Given the description of an element on the screen output the (x, y) to click on. 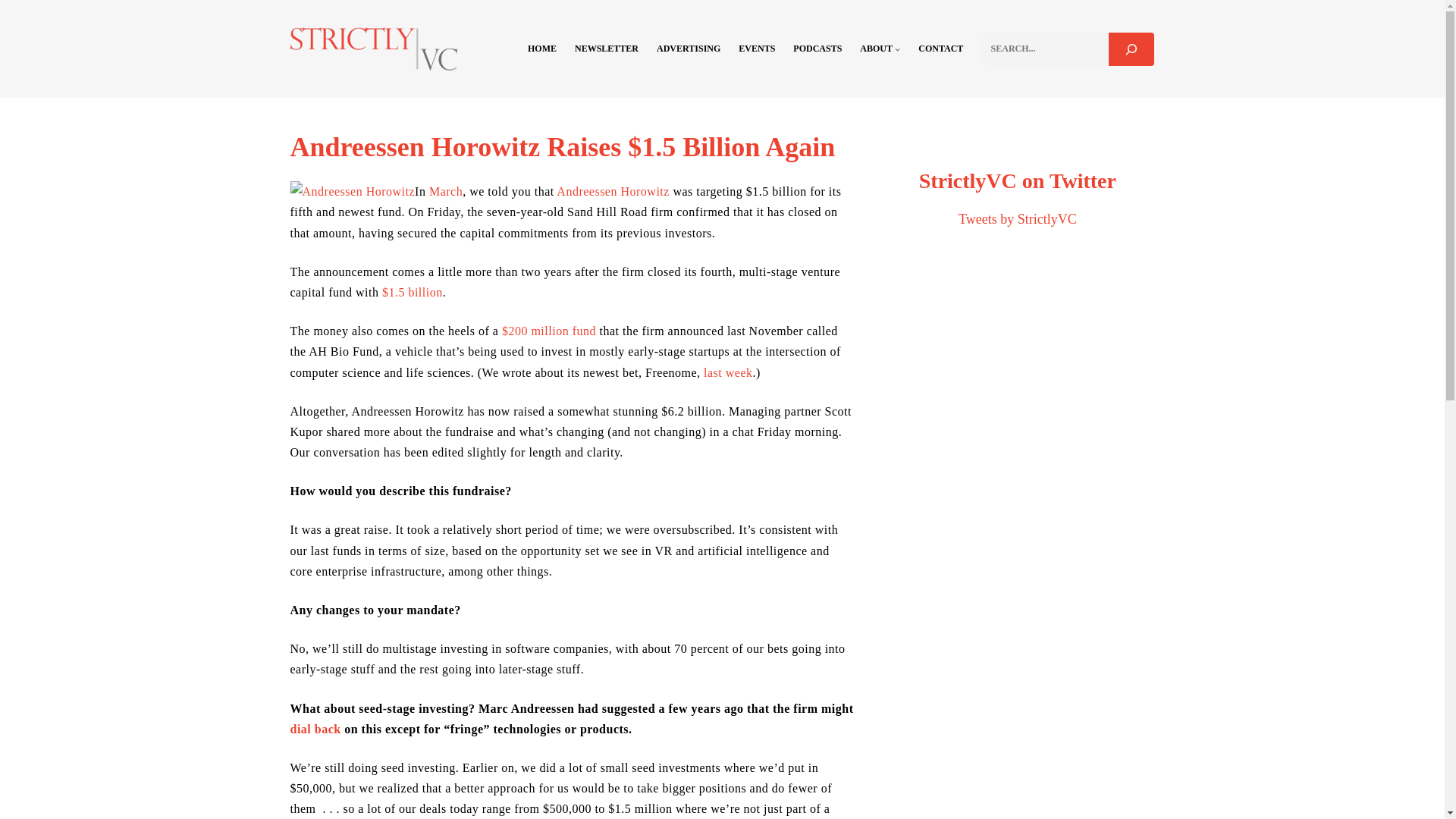
EVENTS (756, 48)
ADVERTISING (688, 48)
HOME (541, 48)
March (446, 191)
ABOUT (876, 48)
last week (727, 371)
Andreessen Horowitz (612, 191)
NEWSLETTER (607, 48)
Tweets by StrictlyVC (1017, 218)
dial back (314, 728)
CONTACT (940, 48)
PODCASTS (817, 48)
